Given the description of an element on the screen output the (x, y) to click on. 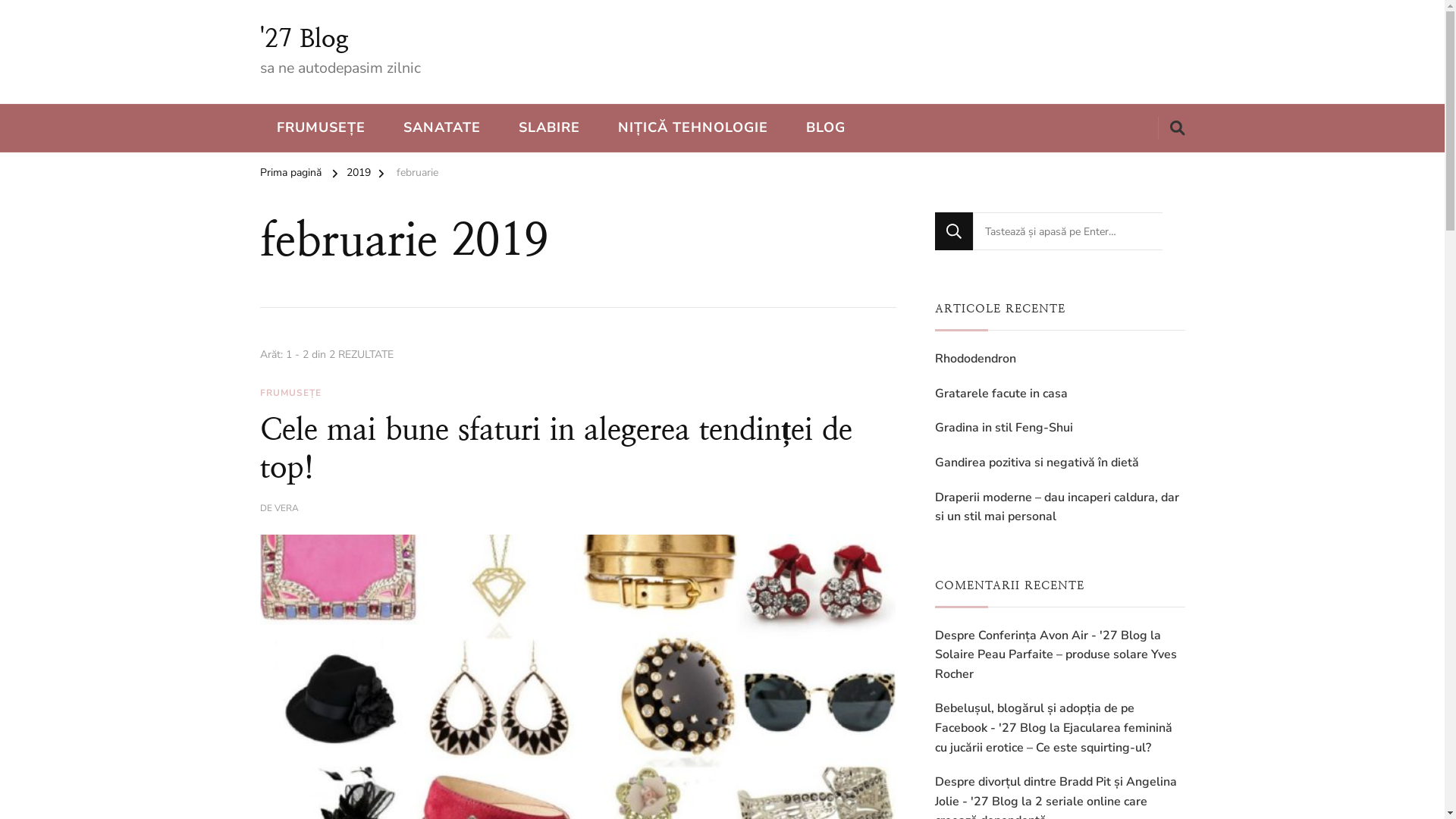
Gratarele facute in casa Element type: text (1000, 394)
februarie Element type: text (416, 174)
Rhododendron Element type: text (974, 359)
2019 Element type: text (357, 174)
Gradina in stil Feng-Shui Element type: text (1003, 428)
SLABIRE Element type: text (549, 127)
VERA Element type: text (286, 508)
SANATATE Element type: text (441, 127)
BLOG Element type: text (824, 127)
'27 Blog Element type: text (303, 38)
